Given the description of an element on the screen output the (x, y) to click on. 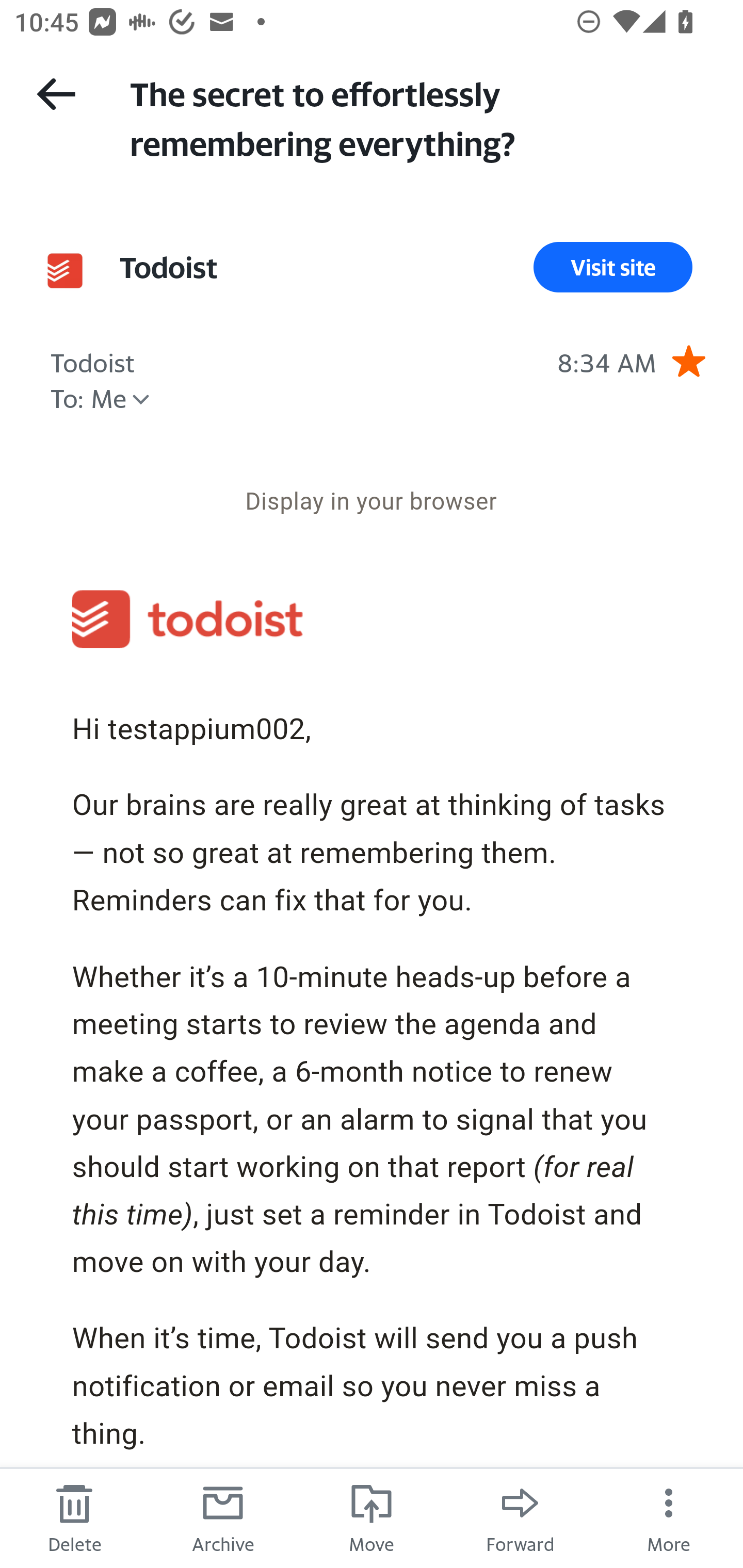
Back (55, 93)
The secret to effortlessly remembering everything? (418, 116)
View all messages from sender (64, 270)
Visit site Visit Site Link (612, 267)
Todoist Sender Todoist (167, 266)
Todoist Sender Todoist (92, 360)
Remove star. (688, 361)
Display in your browser (371, 500)
Todoist logo (187, 619)
Delete (74, 1517)
Archive (222, 1517)
Move (371, 1517)
Forward (519, 1517)
More (668, 1517)
